Given the description of an element on the screen output the (x, y) to click on. 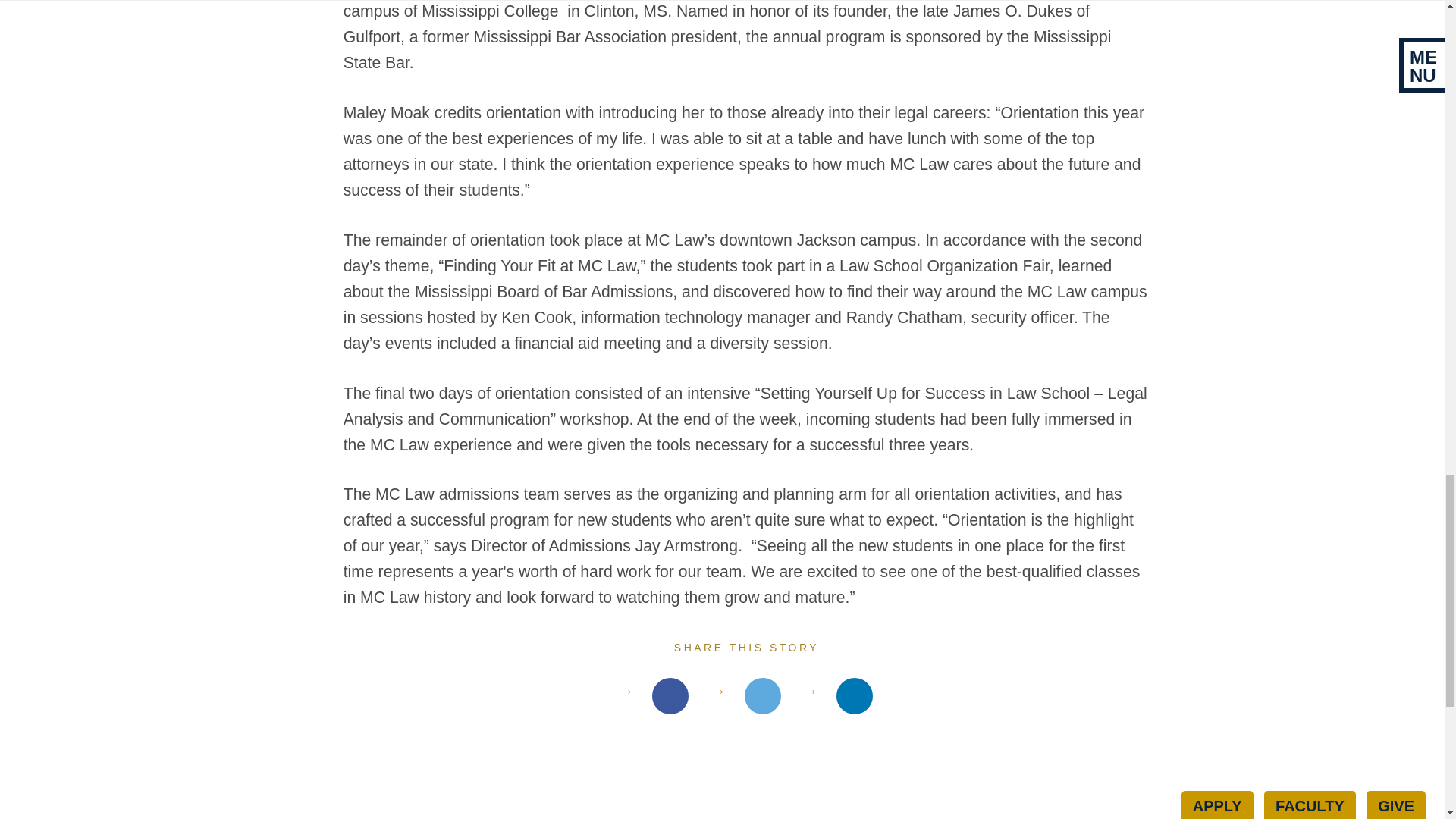
Share on Facebook (670, 695)
Share on LinkedIn (854, 695)
Share on Facebook (762, 695)
